Given the description of an element on the screen output the (x, y) to click on. 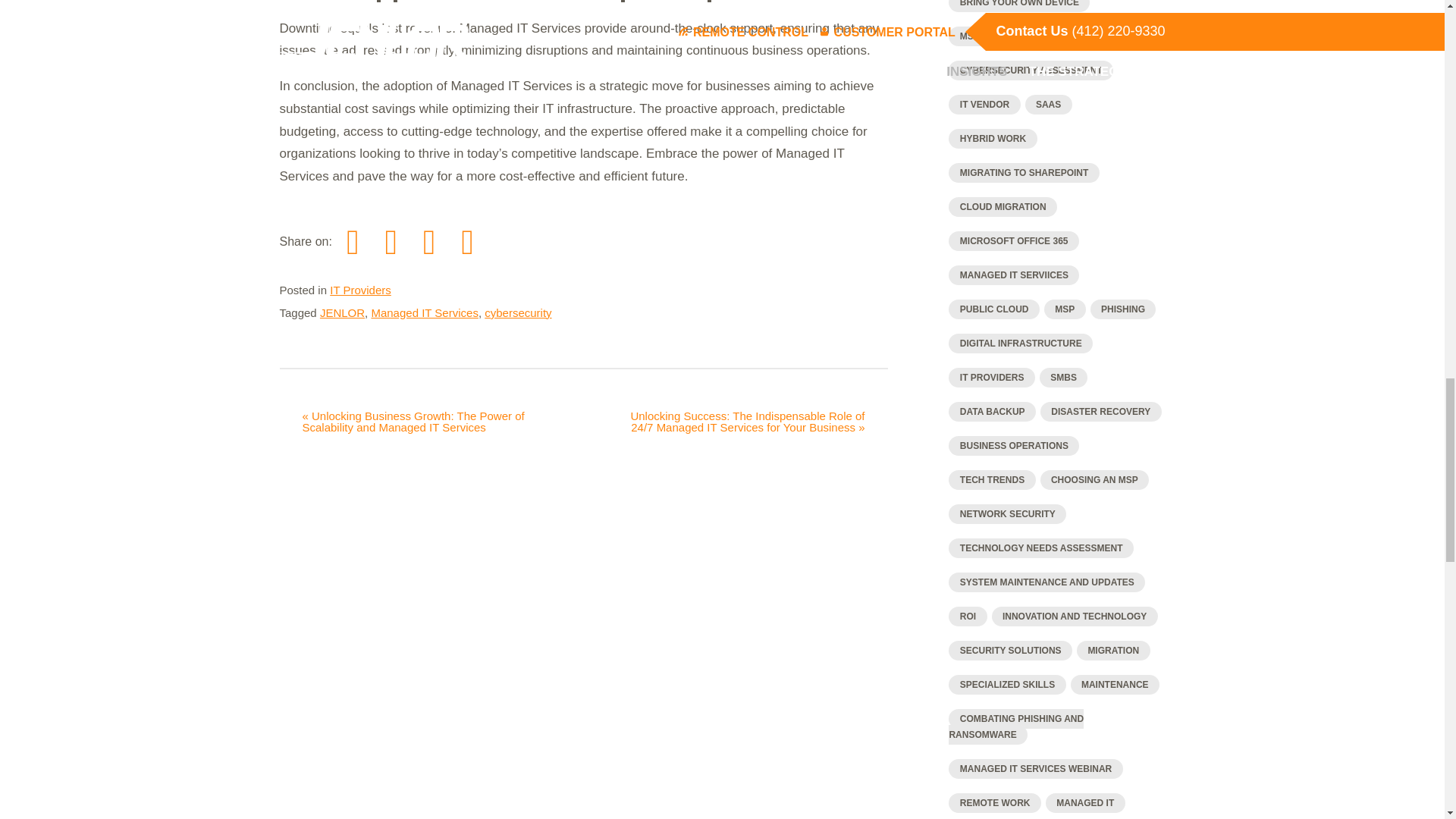
JENLOR (342, 312)
cybersecurity (517, 312)
IT Providers (360, 289)
Managed IT Services (424, 312)
